Given the description of an element on the screen output the (x, y) to click on. 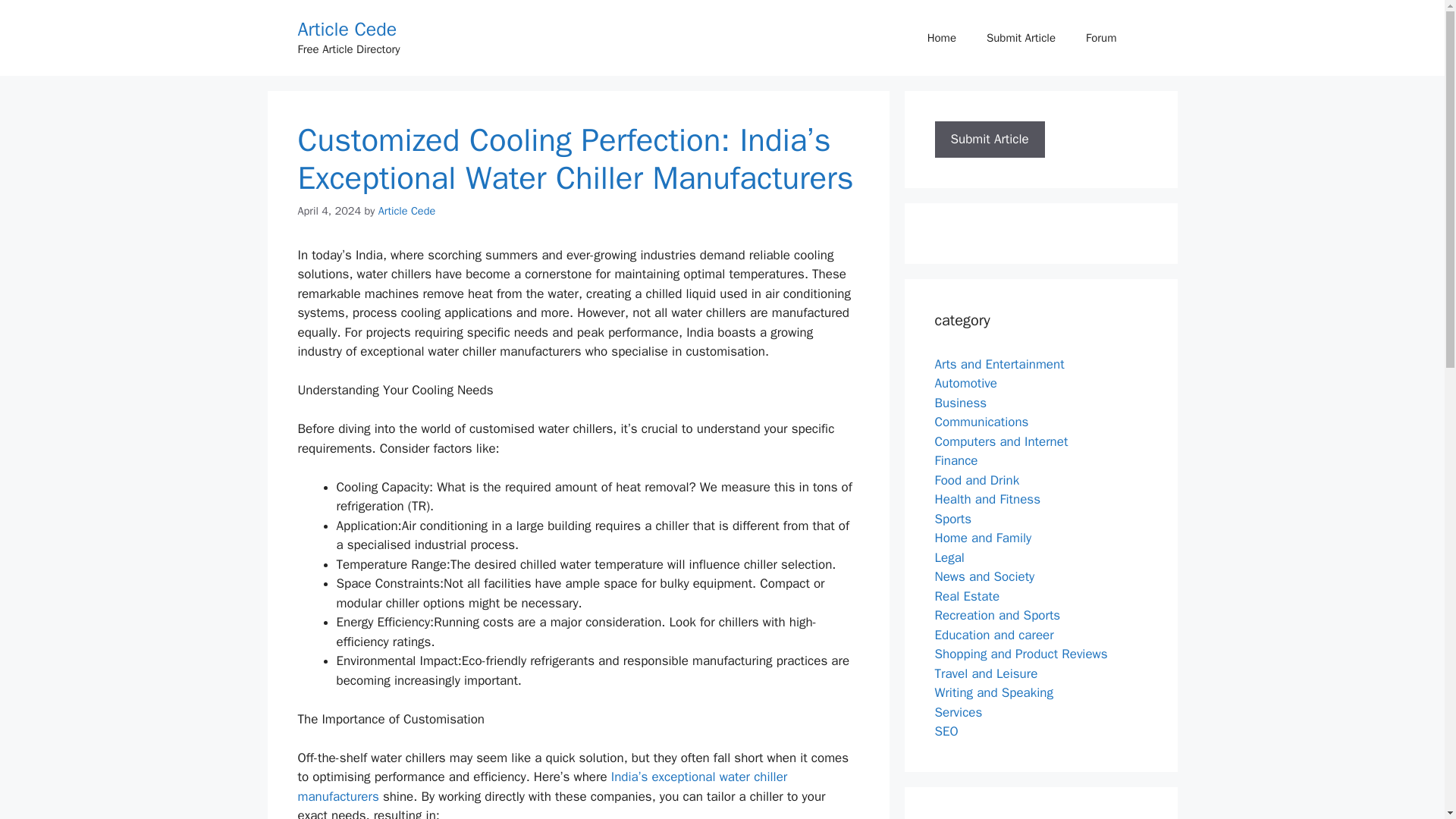
Writing and Speaking (993, 692)
Submit Article (988, 139)
Forum (1100, 37)
Article Cede (406, 210)
View all posts by Article Cede (406, 210)
Computers and Internet (1000, 441)
Submit Article (988, 139)
Recreation and Sports (996, 615)
Health and Fitness (987, 498)
Automotive (965, 383)
Sports (952, 519)
Real Estate (966, 596)
Article Cede (346, 28)
Arts and Entertainment (999, 364)
